Given the description of an element on the screen output the (x, y) to click on. 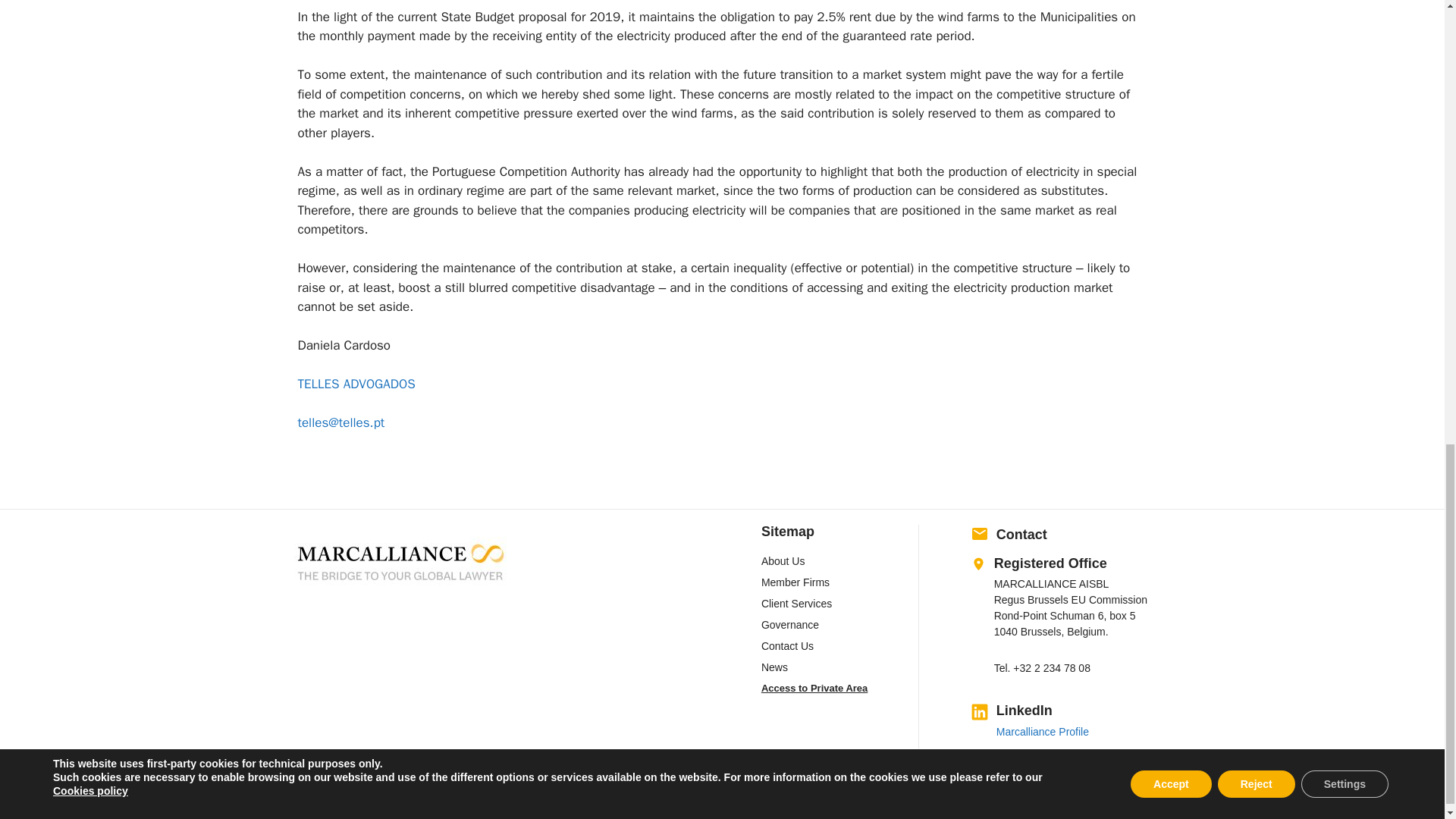
Conditions of Use (985, 787)
Location-on (979, 564)
Member Firms (795, 582)
Contact (1020, 534)
Scroll back to top (1406, 550)
News (774, 667)
Cookies policy (1133, 787)
Client Services (796, 603)
Governance (789, 625)
About Us (783, 561)
